Given the description of an element on the screen output the (x, y) to click on. 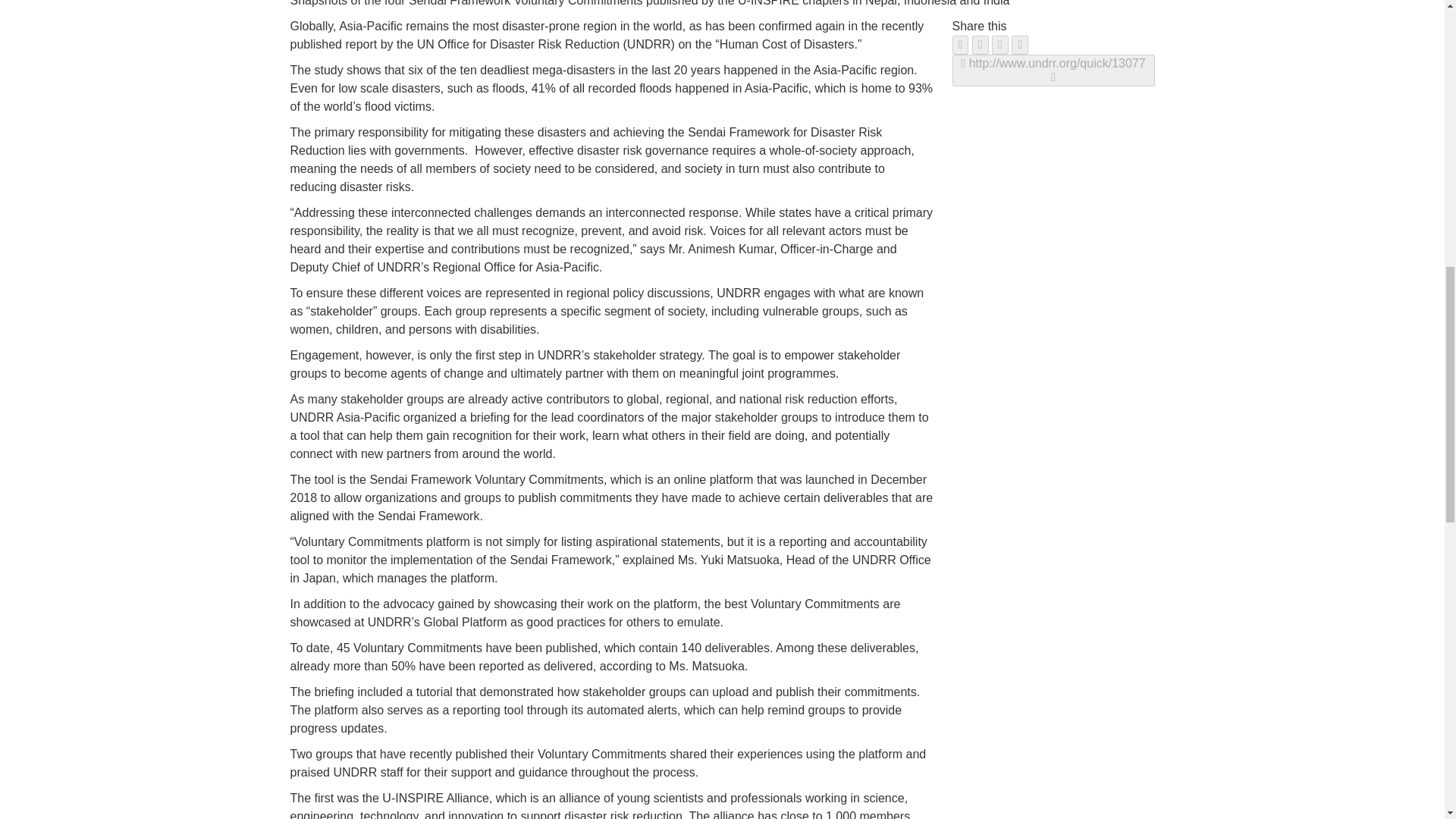
Share on LinkedIn (1000, 45)
Share via Email (1019, 45)
Share on Twitter (980, 45)
Copy to Clipboard (1053, 70)
Share on Facebook (960, 45)
